Given the description of an element on the screen output the (x, y) to click on. 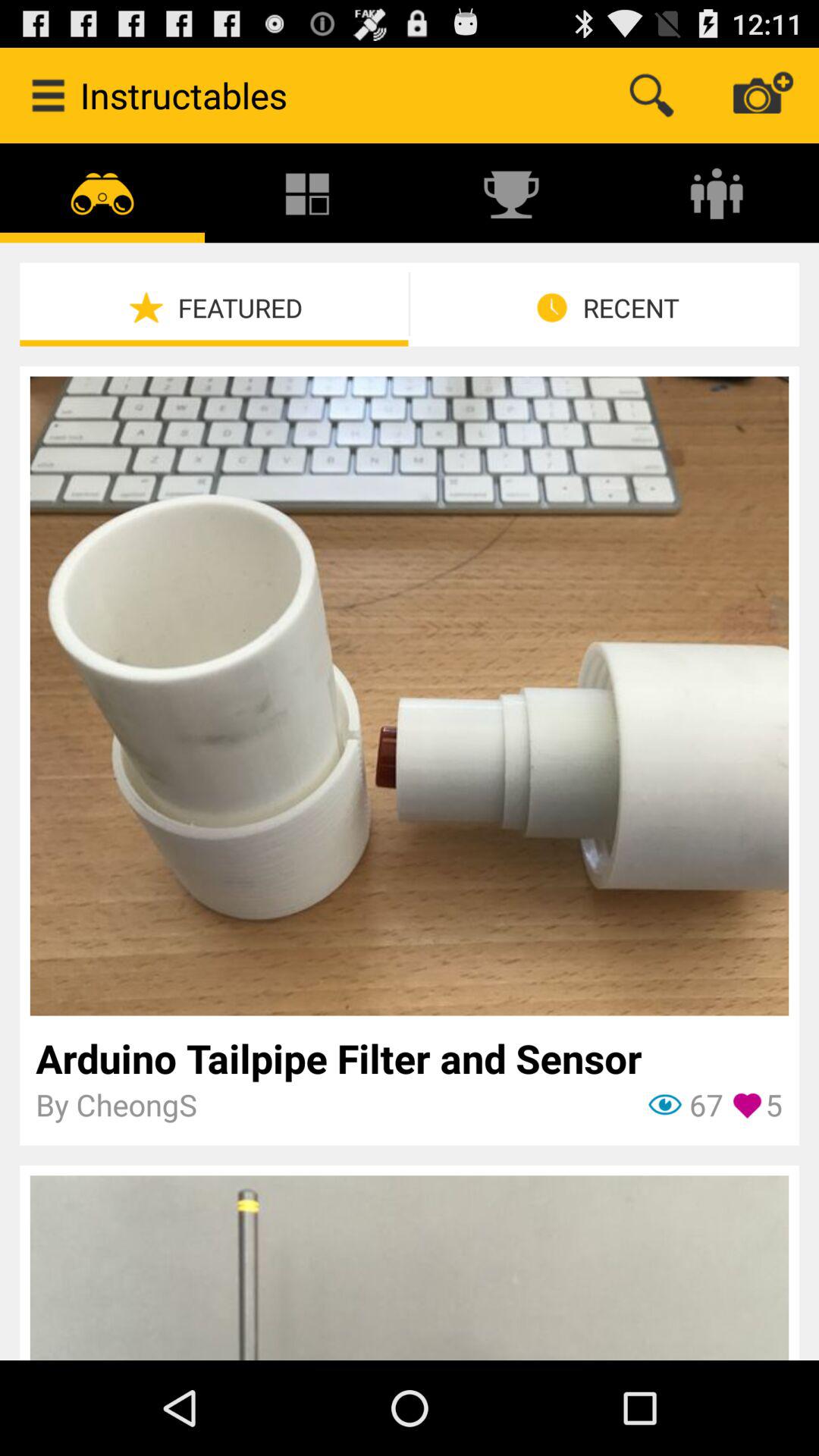
launch the icon above the recent icon (716, 192)
